Given the description of an element on the screen output the (x, y) to click on. 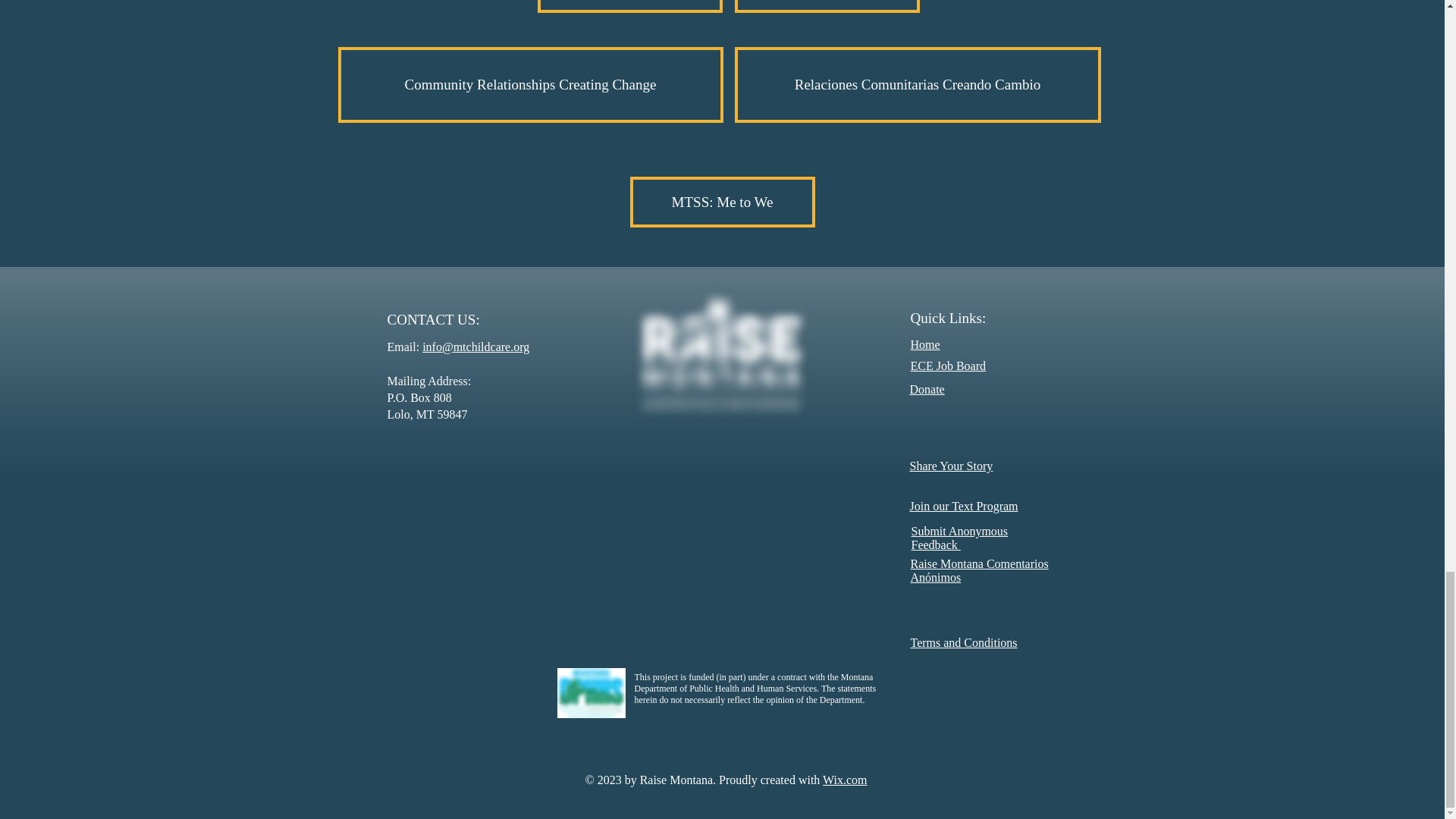
ECE Job Board (947, 365)
Home (924, 344)
MTSS Flyer (629, 6)
Donate (927, 389)
Join our Text Program (963, 505)
Community Relationships Creating Change (530, 84)
MTSS: Me to We (720, 201)
Relaciones Comunitarias Creando Cambio (916, 84)
Share Your Story (951, 465)
